Given the description of an element on the screen output the (x, y) to click on. 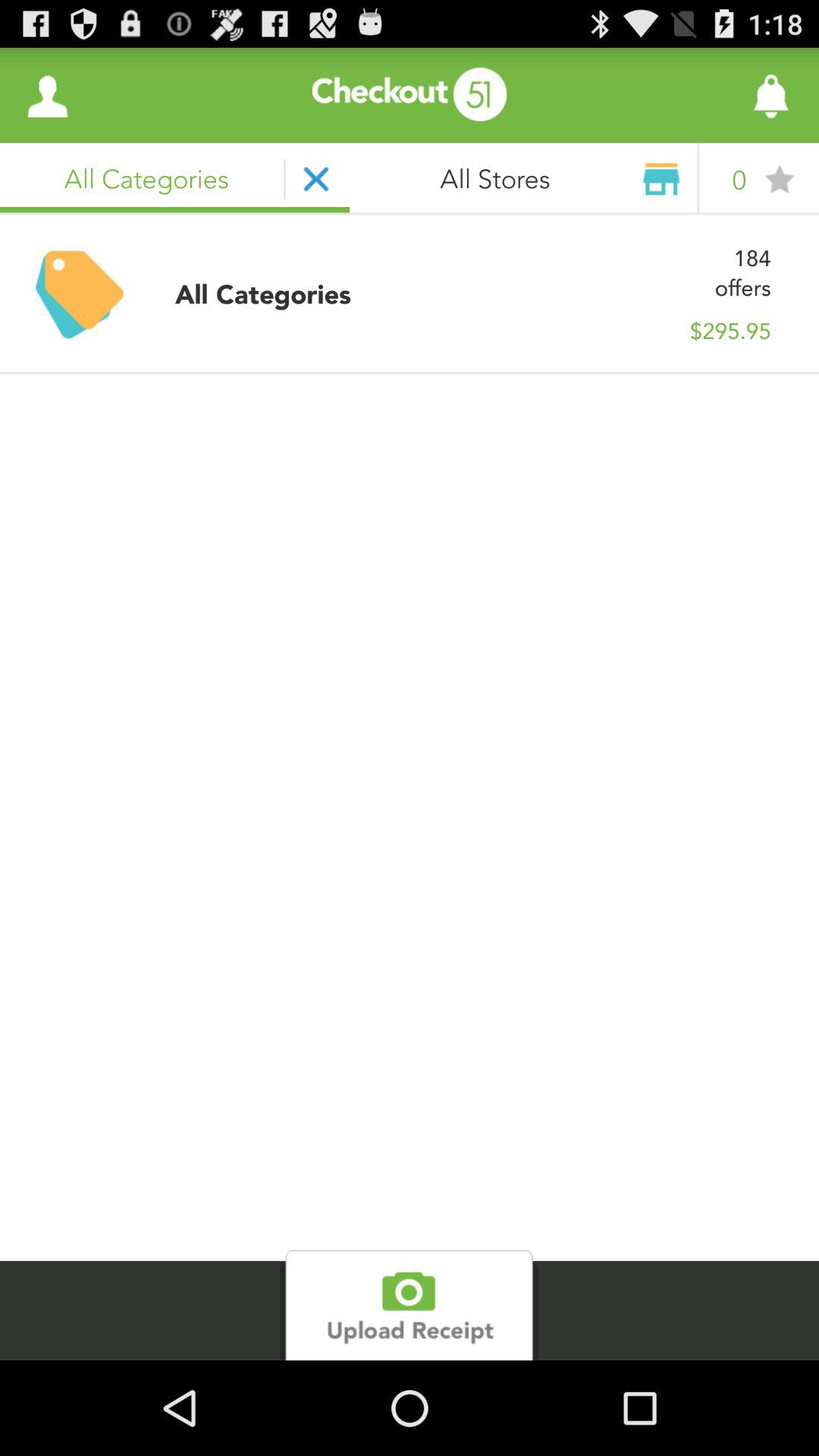
choose the item next to all stores icon (47, 95)
